Given the description of an element on the screen output the (x, y) to click on. 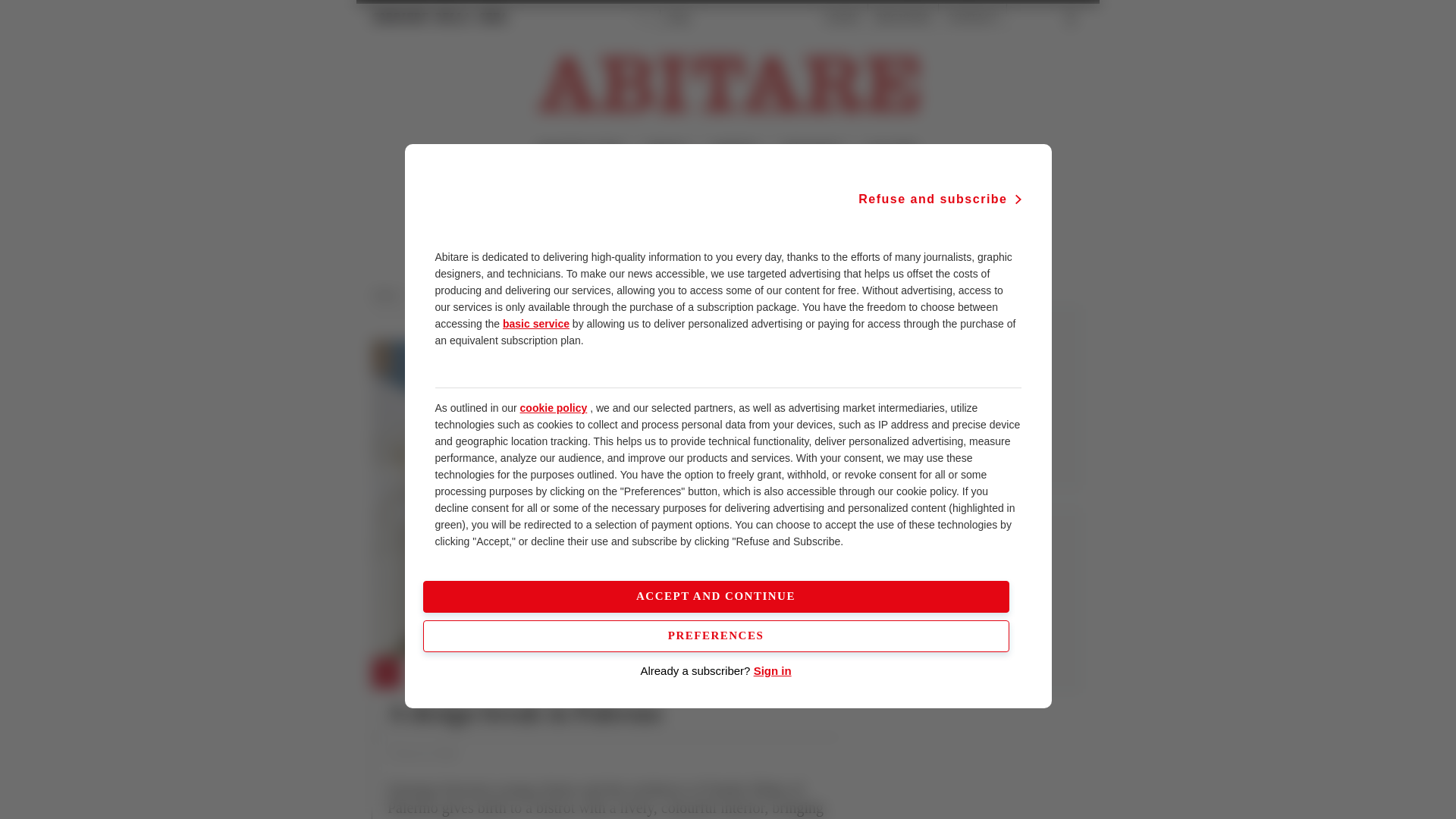
DESIGN (666, 150)
Projects (498, 294)
ENG (679, 18)
Abitare (390, 294)
CONTACT (972, 18)
Architecture (442, 294)
Search (1035, 17)
PROJECTS (439, 674)
REGISTER (903, 18)
HABITAT (735, 150)
Francesca Oddo (422, 753)
ARCHITECTURE (578, 150)
RESEARCH (812, 150)
Il Corriere della Sera (439, 17)
GALLERY (890, 150)
